Given the description of an element on the screen output the (x, y) to click on. 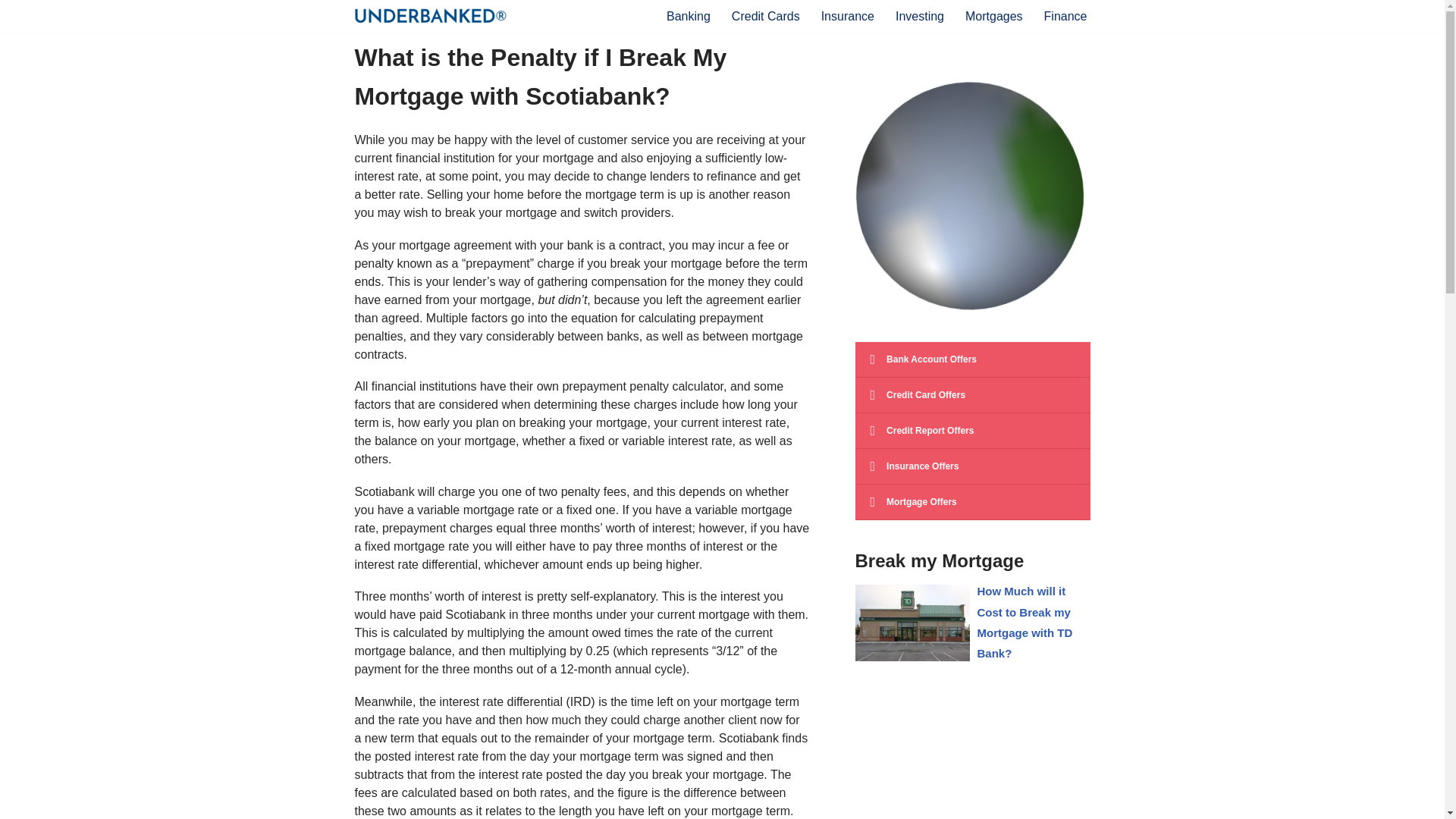
How Much will it Cost to Break my Mortgage with TD Bank? (1023, 622)
Mortgages (994, 15)
Insurance Offers (973, 466)
Investing (919, 15)
Insurance (848, 15)
Banking (688, 15)
Mortgage Offers (973, 502)
Credit Report Offers (973, 430)
Credit Cards (765, 15)
How Much will it Cost to Break my Mortgage with TD Bank? (1023, 622)
Credit Card Offers (973, 395)
Finance (1065, 15)
Skip to content (11, 31)
Bank Account Offers (973, 359)
